Given the description of an element on the screen output the (x, y) to click on. 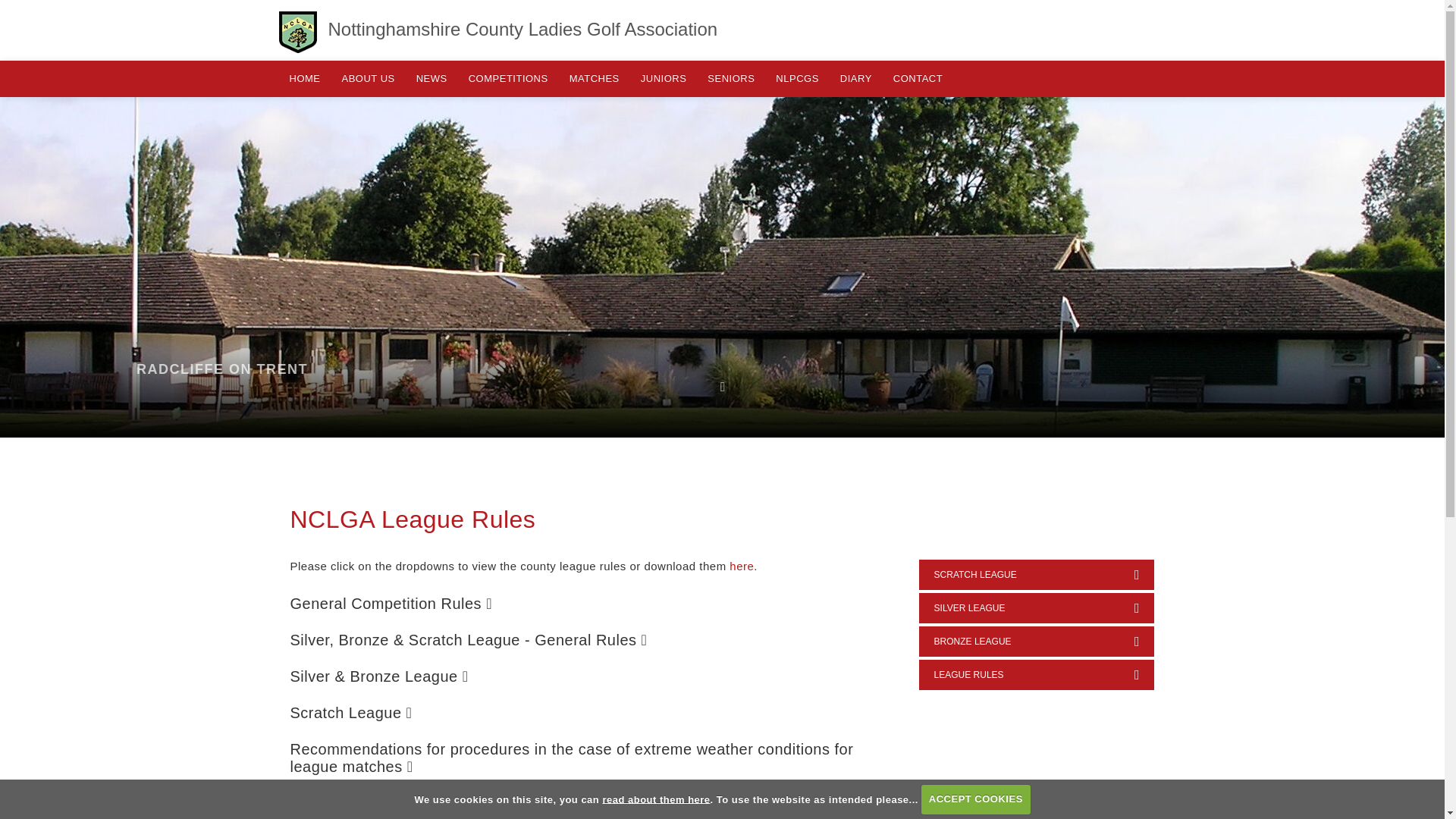
COMPETITIONS (508, 78)
HOME (305, 78)
NEWS (432, 78)
MATCHES (594, 78)
ABOUT US (367, 78)
read about our cookies (656, 798)
JUNIORS (663, 78)
